Given the description of an element on the screen output the (x, y) to click on. 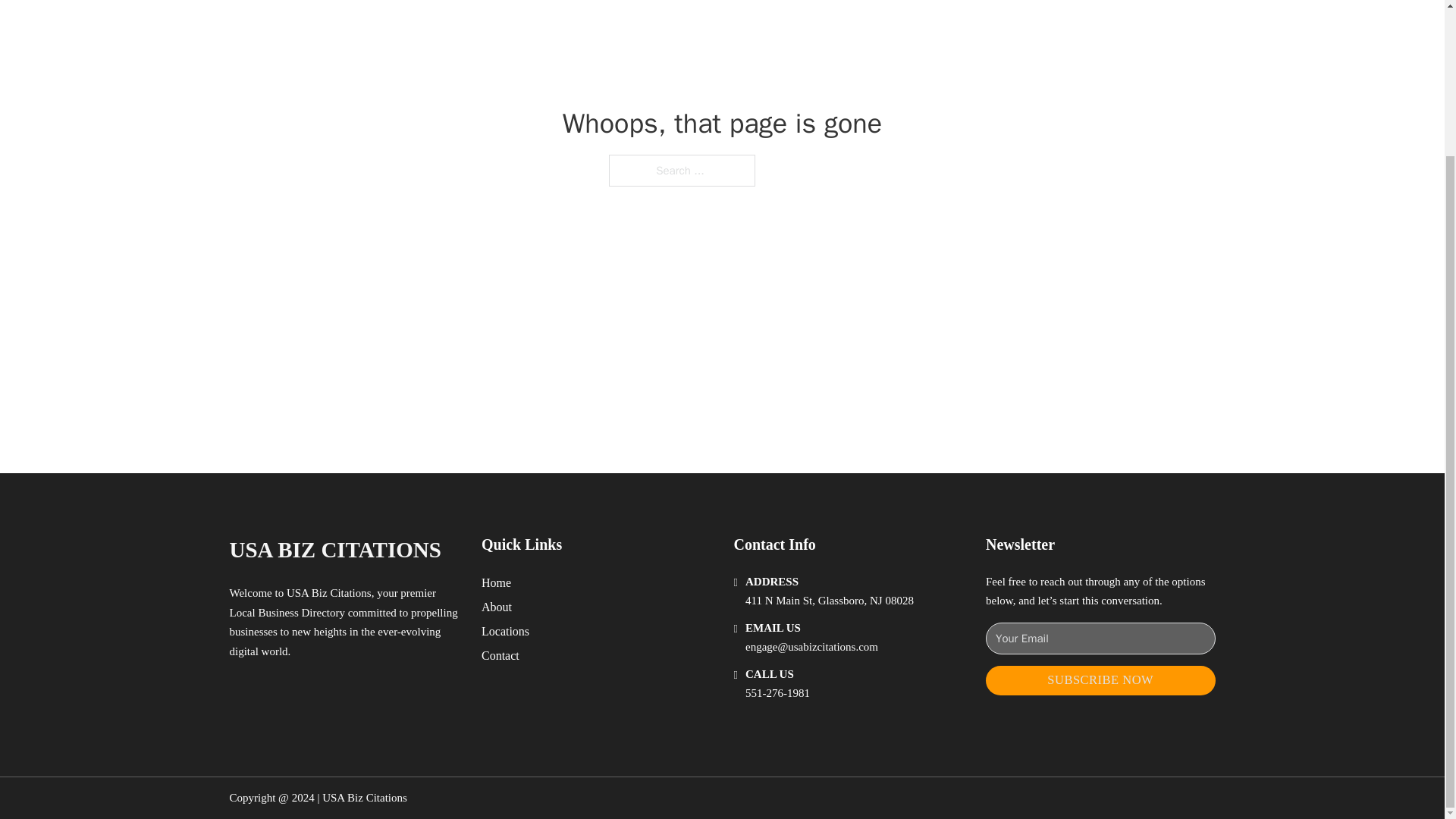
Locations (505, 630)
551-276-1981 (777, 693)
SUBSCRIBE NOW (1100, 680)
Home (496, 582)
Contact (500, 655)
About (496, 607)
USA BIZ CITATIONS (334, 549)
